Given the description of an element on the screen output the (x, y) to click on. 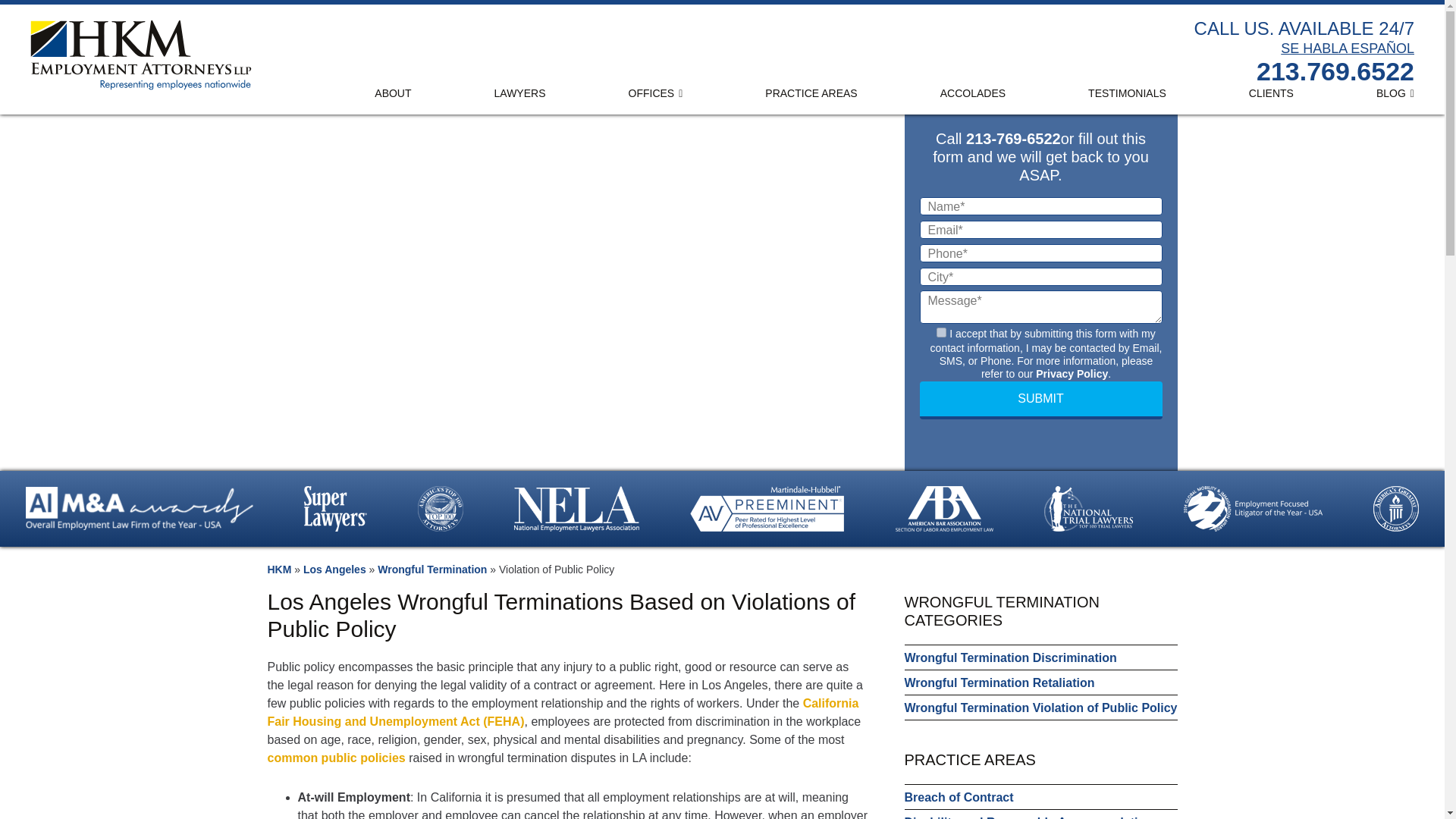
SUBMIT (1039, 400)
LAWYERS (519, 91)
213.769.6522 (1334, 70)
1 (941, 332)
OFFICES (656, 91)
ABOUT (397, 91)
